Given the description of an element on the screen output the (x, y) to click on. 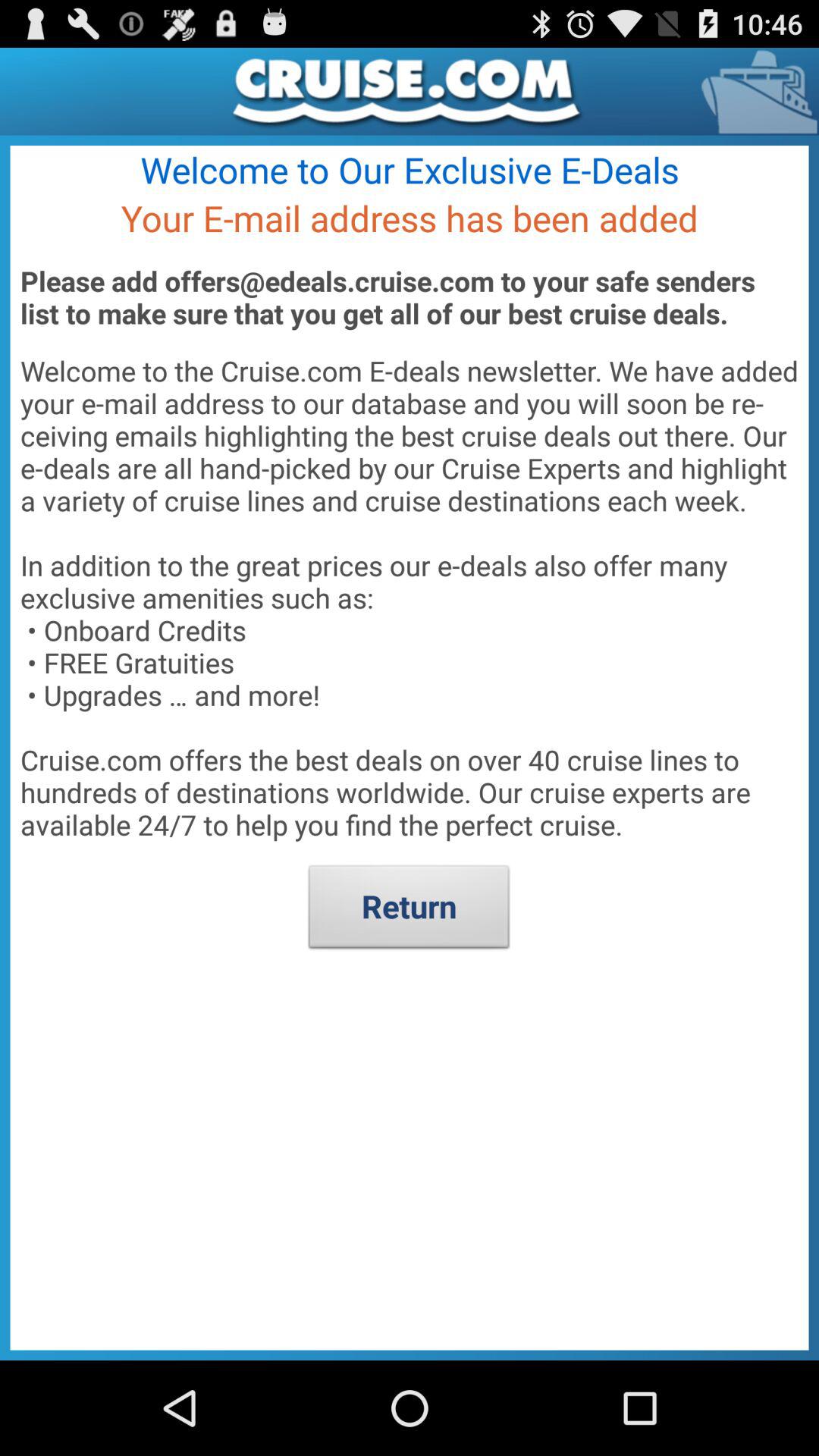
scroll to the return button (409, 910)
